Given the description of an element on the screen output the (x, y) to click on. 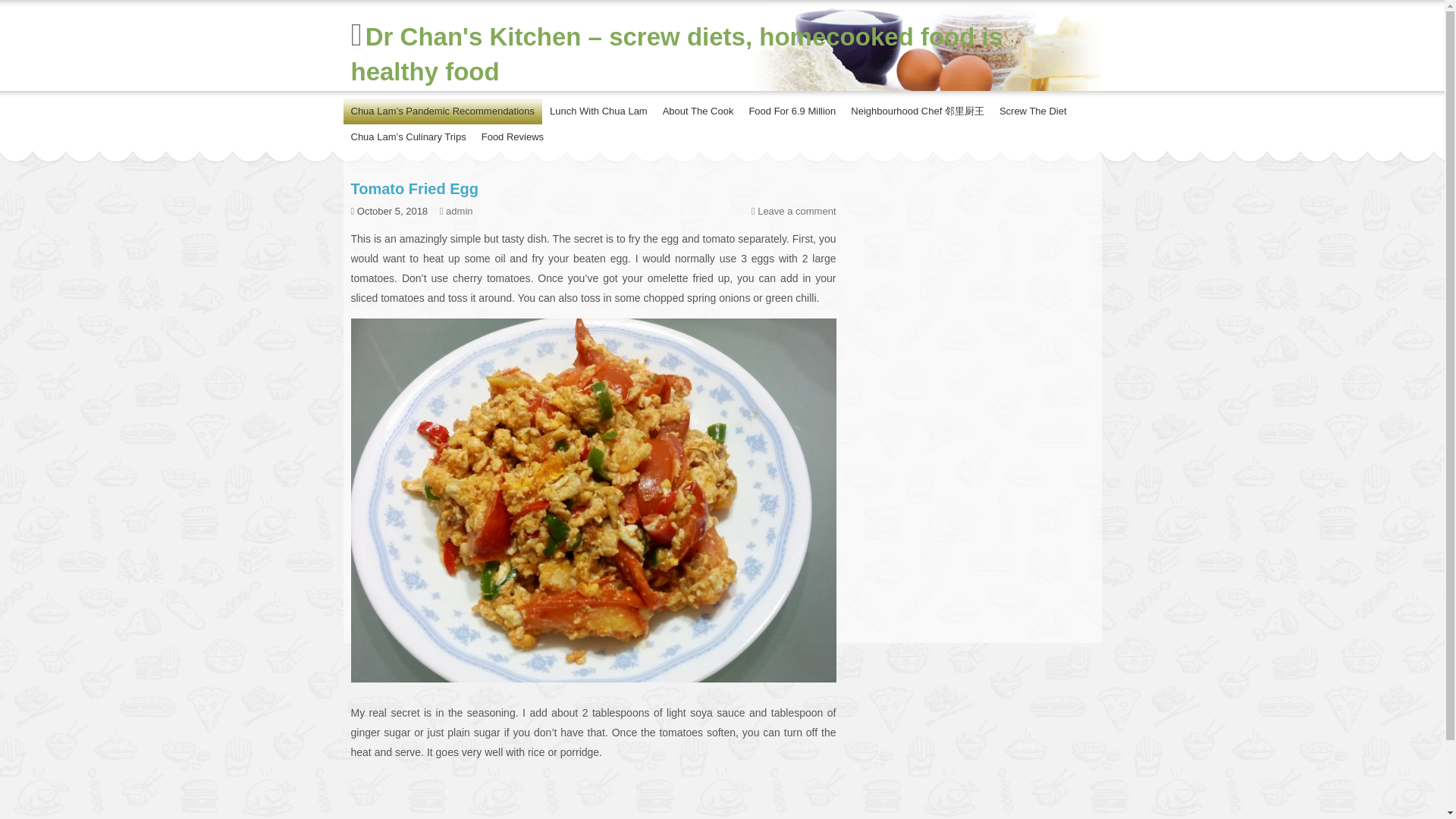
Food For 6.9 Million (792, 111)
Food Reviews (512, 136)
About The Cook (698, 111)
Search (1067, 144)
Lunch With Chua Lam (598, 111)
admin (460, 211)
Screw The Diet (1032, 111)
